Given the description of an element on the screen output the (x, y) to click on. 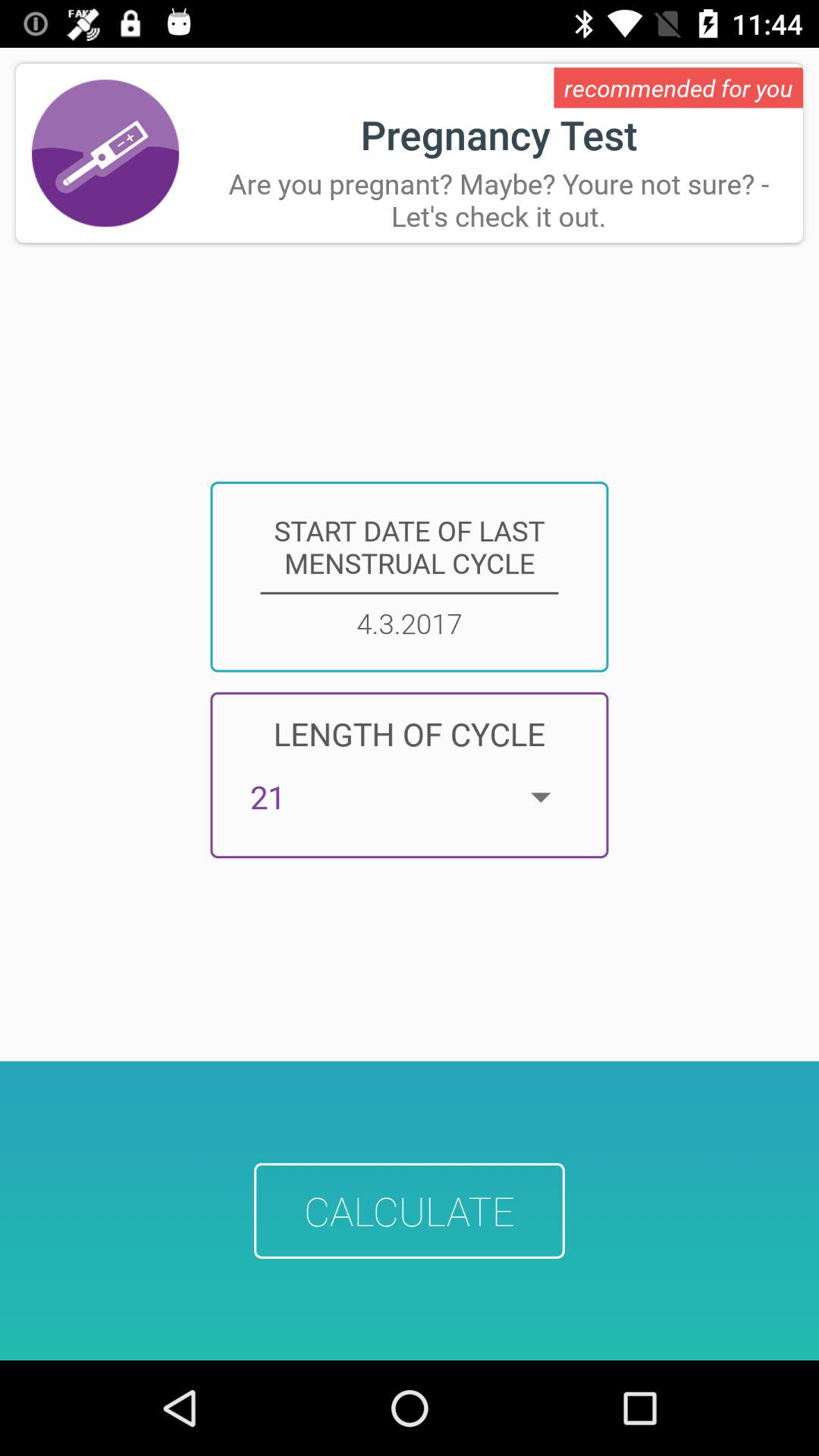
choose item below 21 app (409, 1210)
